Given the description of an element on the screen output the (x, y) to click on. 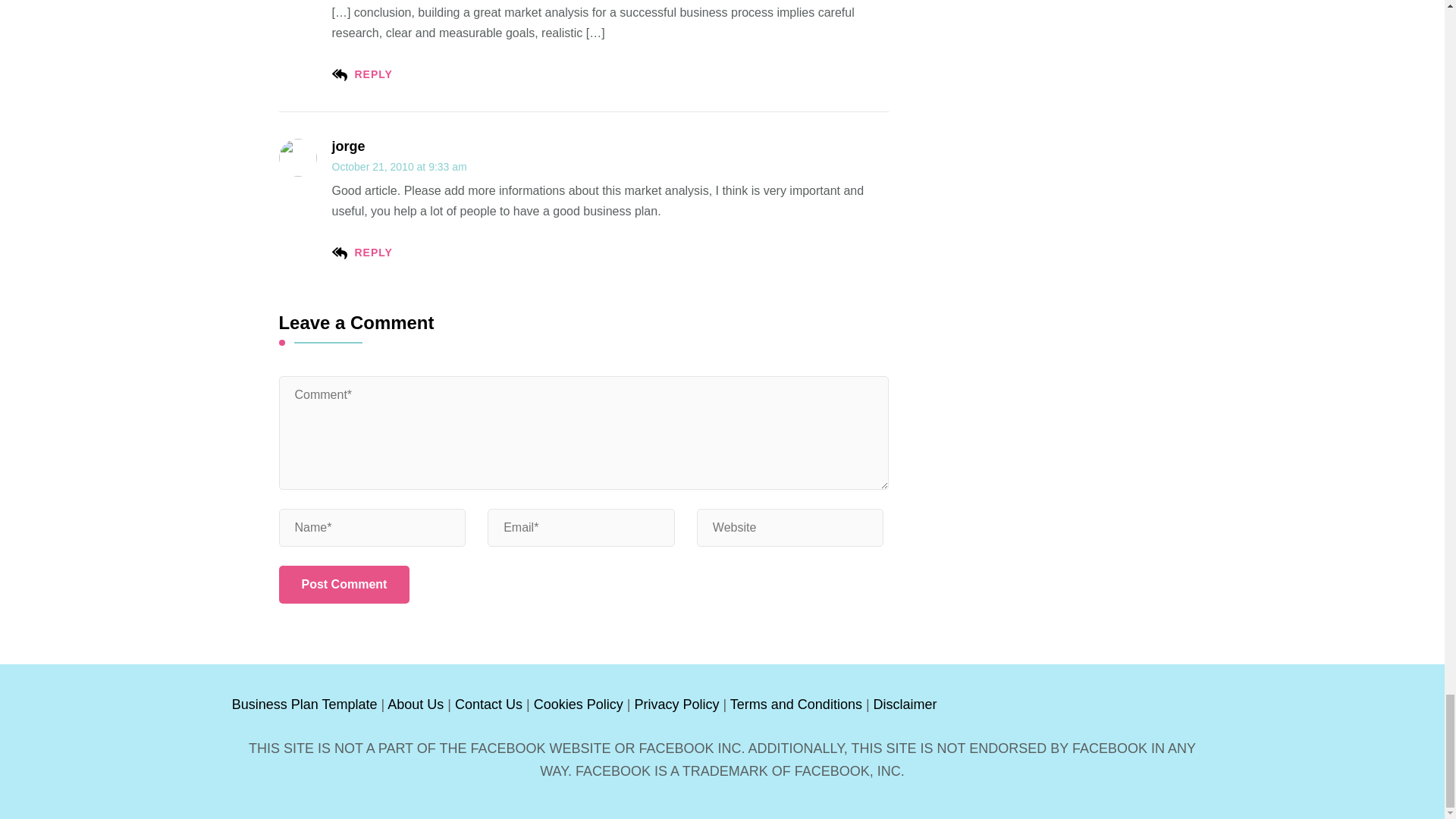
Post Comment (344, 584)
